Given the description of an element on the screen output the (x, y) to click on. 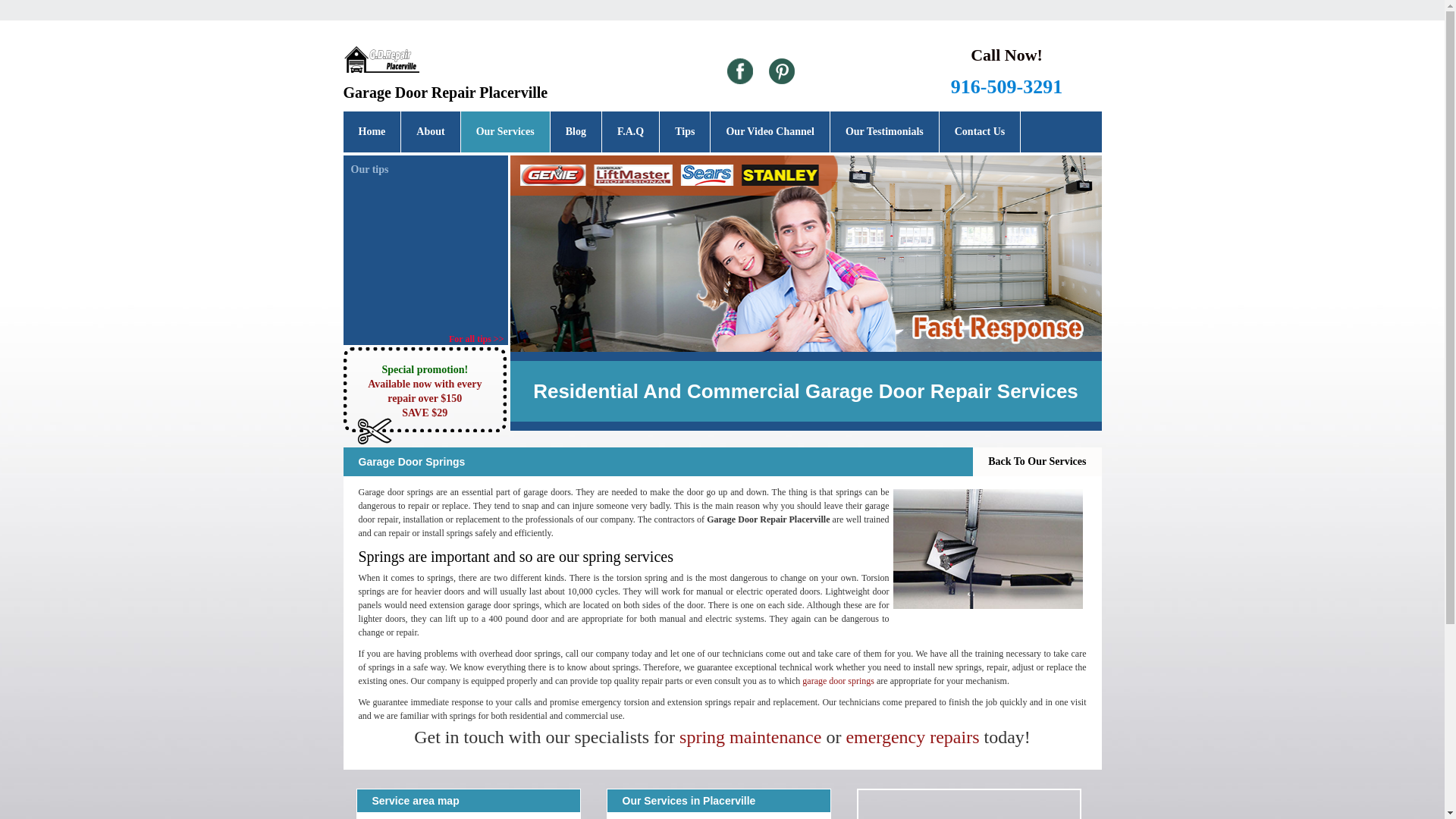
Our Video Channel (769, 131)
F.A.Q (630, 131)
spring maintenance (750, 736)
Contact Us (979, 131)
Twitter (781, 71)
Blog (575, 131)
Garage Door Springs (988, 548)
Tips (684, 131)
Facebook (739, 71)
Home (371, 131)
